Given the description of an element on the screen output the (x, y) to click on. 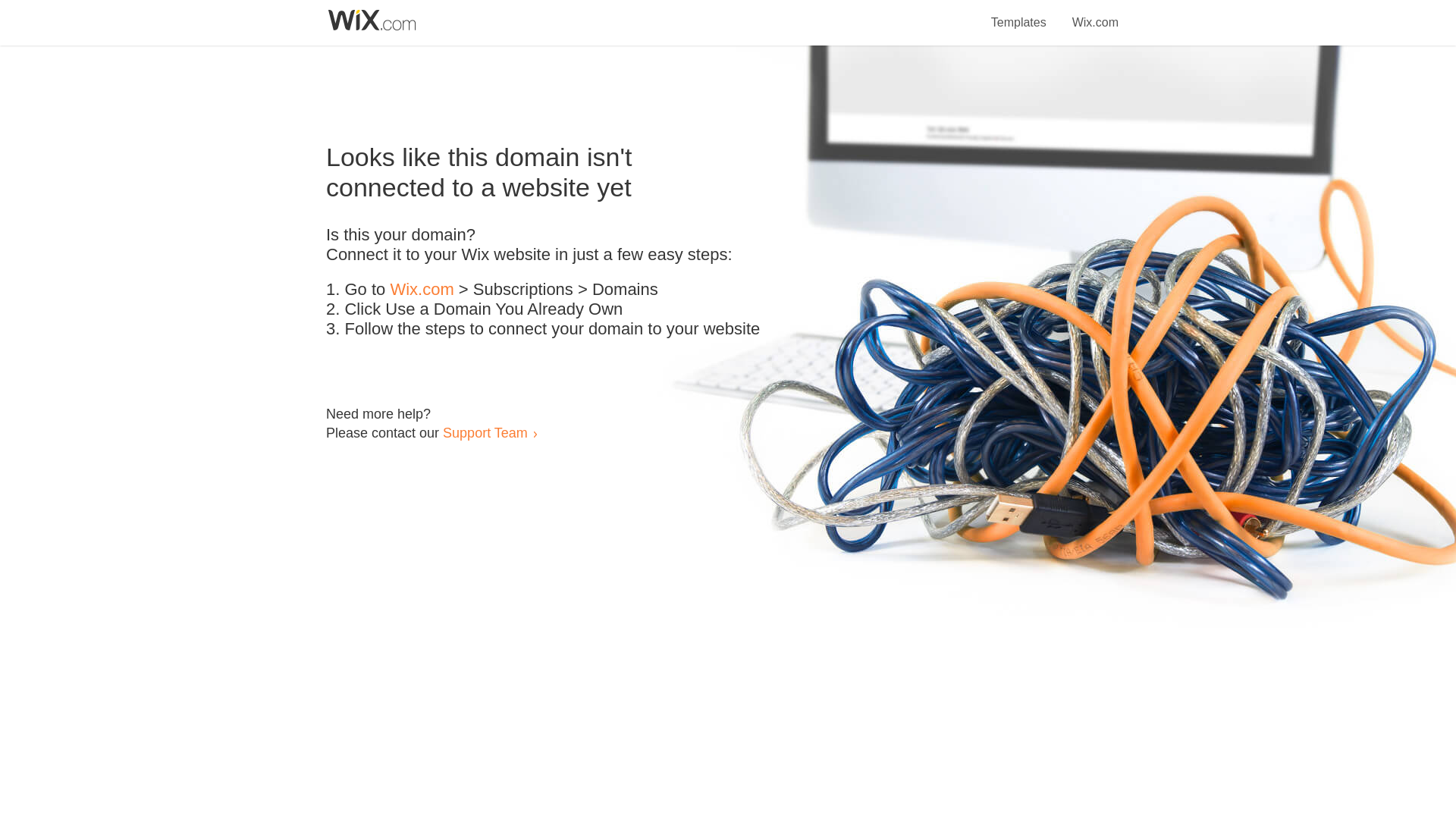
Templates (1018, 14)
Support Team (484, 432)
Wix.com (421, 289)
Wix.com (1095, 14)
